Given the description of an element on the screen output the (x, y) to click on. 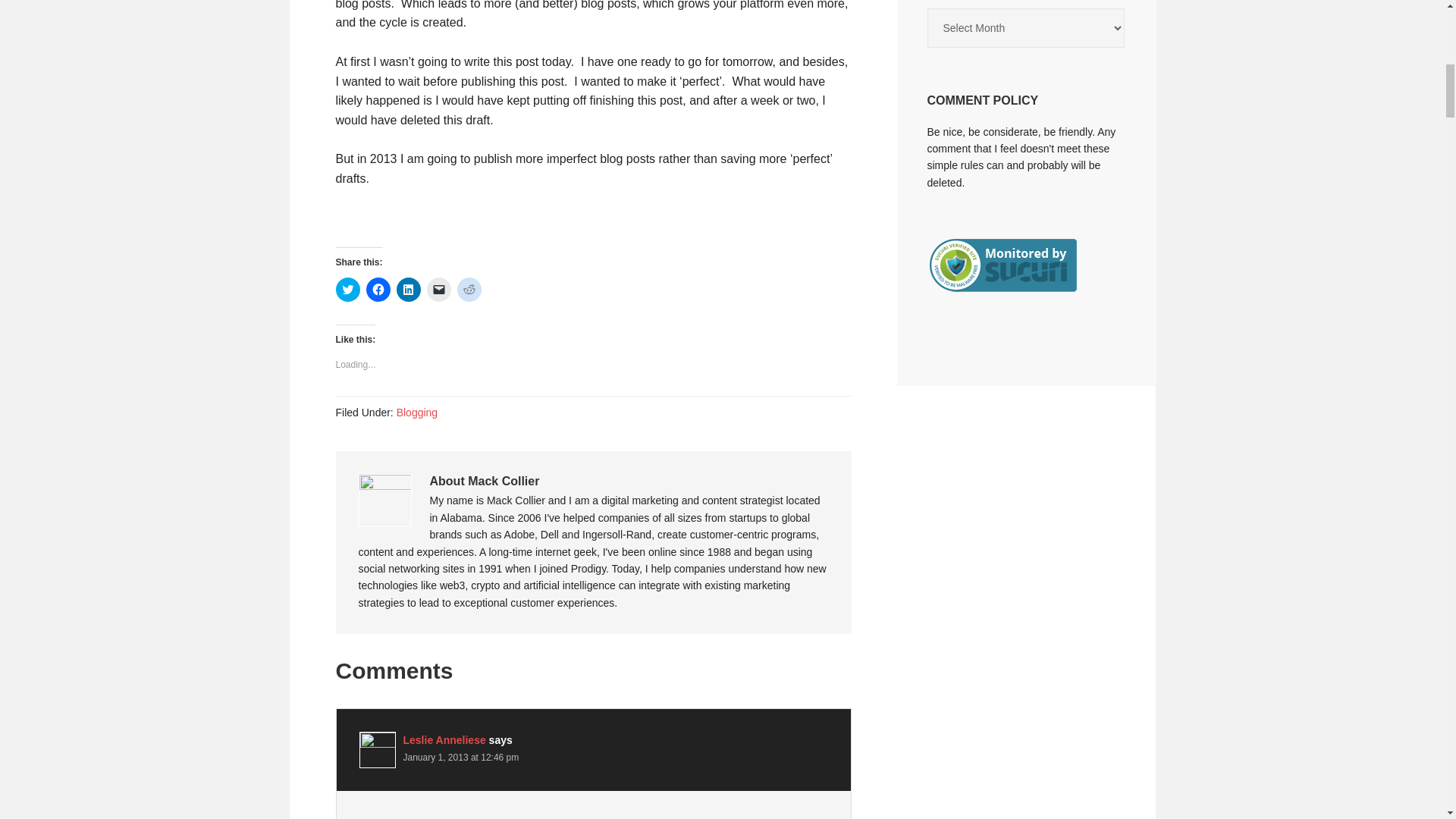
Leslie Anneliese (444, 739)
Click to email a link to a friend (437, 289)
Click to share on LinkedIn (408, 289)
Blogging (417, 412)
Click to share on Reddit (468, 289)
Click to share on Facebook (377, 289)
January 1, 2013 at 12:46 pm (461, 757)
Click to share on Twitter (346, 289)
